Given the description of an element on the screen output the (x, y) to click on. 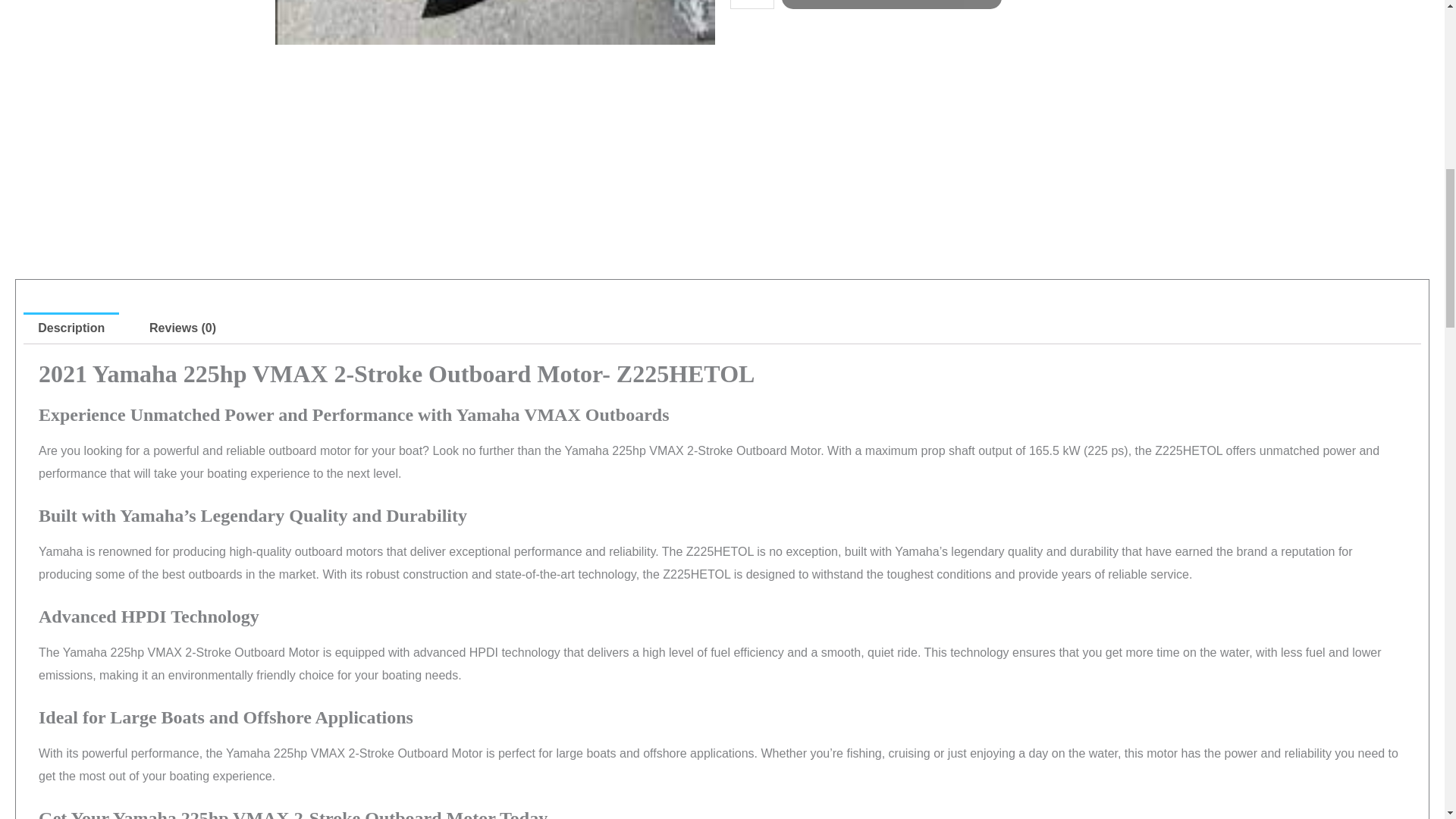
Description (71, 327)
1 (751, 4)
ADD TO CART (891, 4)
2021 Yamaha 200hp 200GETOL VMAX 2 Stroke Outboard 2 (494, 22)
